Given the description of an element on the screen output the (x, y) to click on. 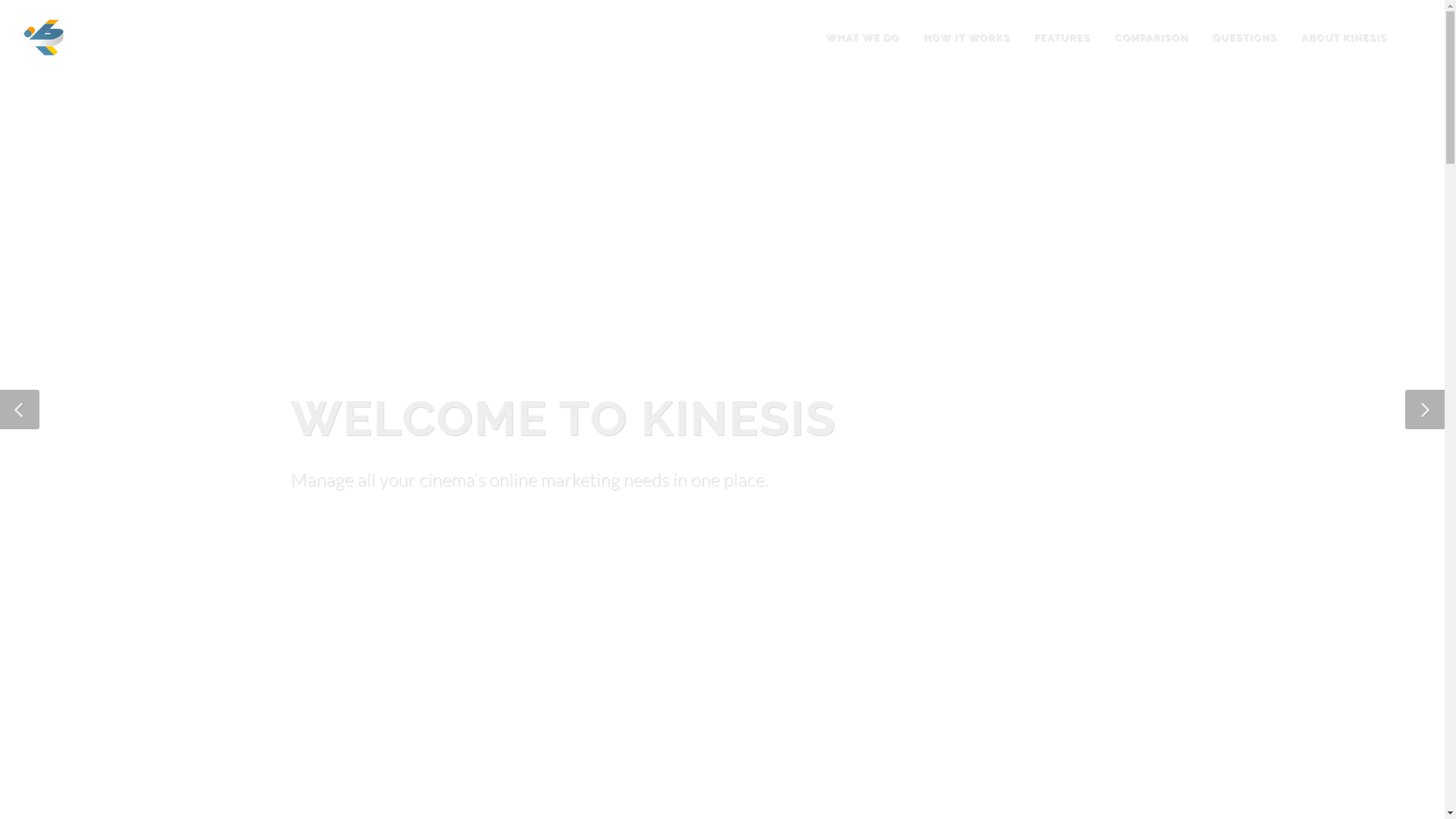
WHAT WE DO Element type: text (862, 37)
FEATURES Element type: text (1061, 37)
COMPARISON Element type: text (1151, 37)
ABOUT KINESIS Element type: text (1343, 37)
HOW IT WORKS Element type: text (966, 37)
QUESTIONS Element type: text (1244, 37)
